Given the description of an element on the screen output the (x, y) to click on. 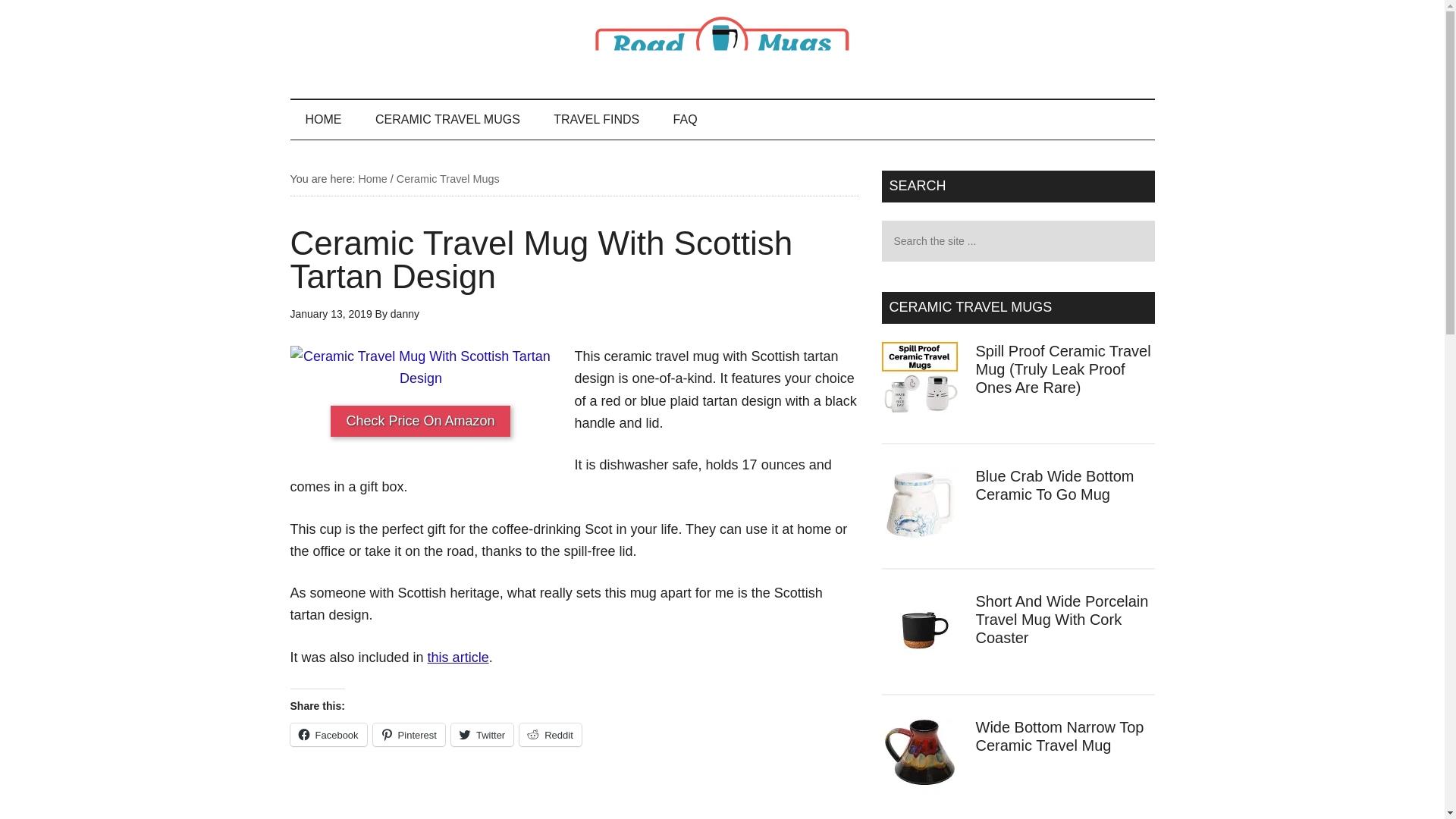
Blue Crab Wide Bottom Ceramic To Go Mug (1054, 484)
Click to share on Reddit (549, 734)
Click to share on Facebook (327, 734)
Short And Wide Porcelain Travel Mug With Cork Coaster (1061, 619)
FAQ (685, 119)
Home (372, 178)
HOME (322, 119)
Click to share on Twitter (482, 734)
Twitter (482, 734)
